Given the description of an element on the screen output the (x, y) to click on. 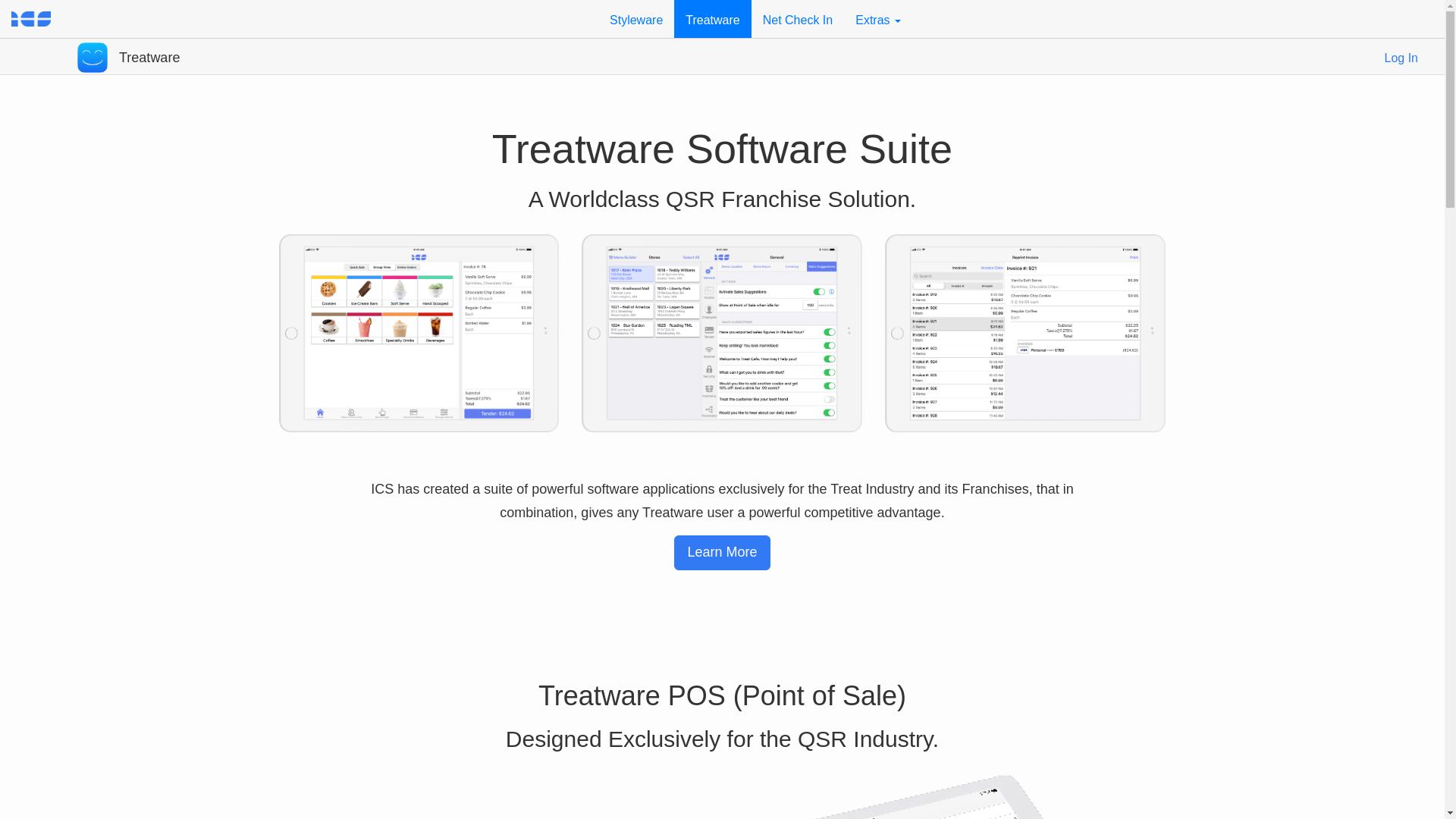
Net Check In (797, 18)
Extras dropdown (878, 18)
Treateware.html (92, 50)
ICS Home Page (38, 18)
Extras (878, 18)
Treatware.html (712, 18)
Stylware.html (636, 18)
Learn More (722, 552)
Styleware (636, 18)
netcheckin.com (797, 18)
